Given the description of an element on the screen output the (x, y) to click on. 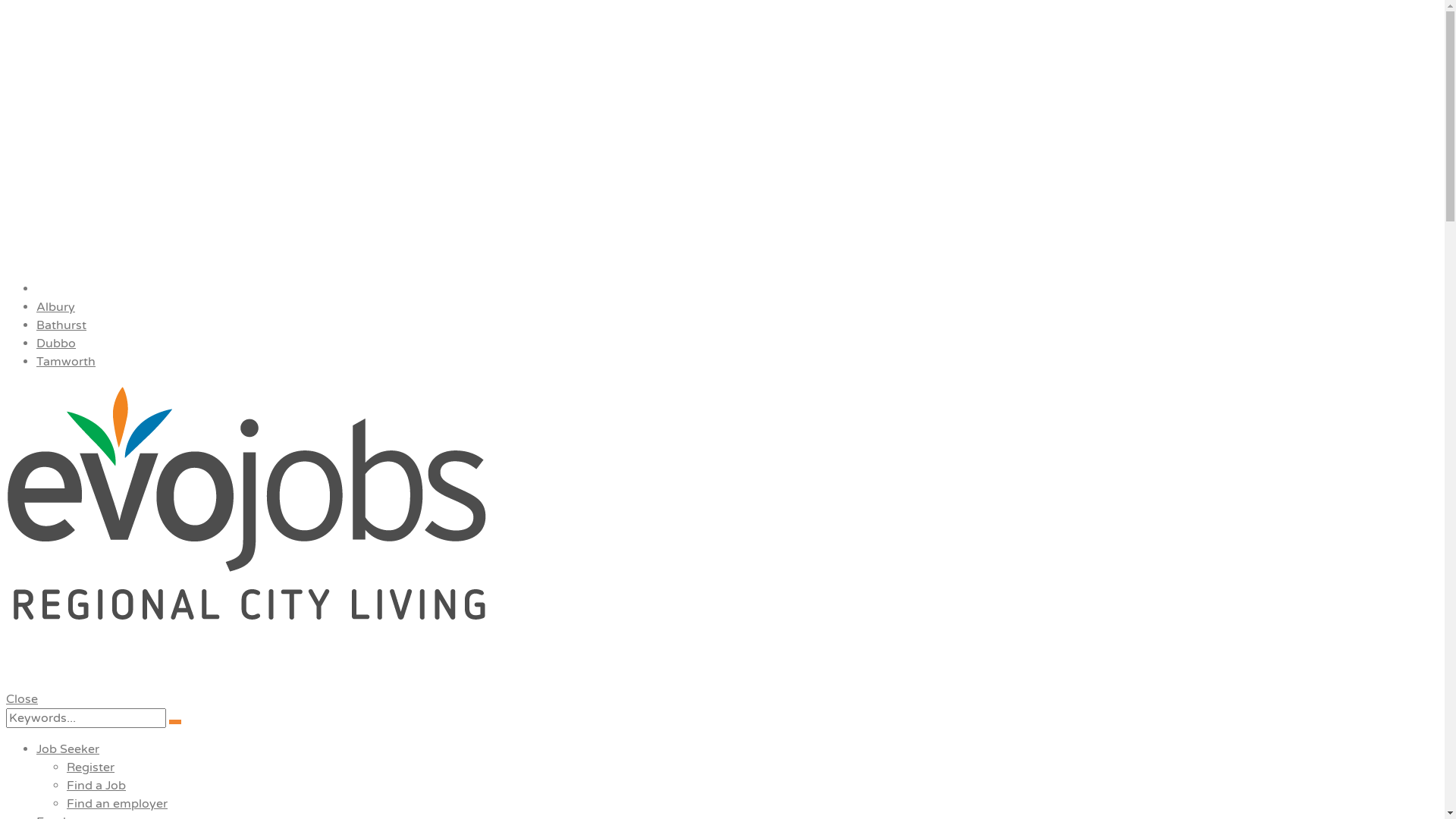
Dubbo Element type: text (55, 343)
Bathurst Element type: text (61, 324)
Find a Job Element type: text (95, 785)
Evojobs
Employment in Evocities Element type: text (722, 530)
Tamworth Element type: text (65, 361)
Albury Element type: text (55, 306)
Register Element type: text (90, 767)
Close Element type: text (21, 698)
Search Element type: text (175, 721)
Job Seeker Element type: text (67, 748)
Find an employer Element type: text (116, 803)
